Given the description of an element on the screen output the (x, y) to click on. 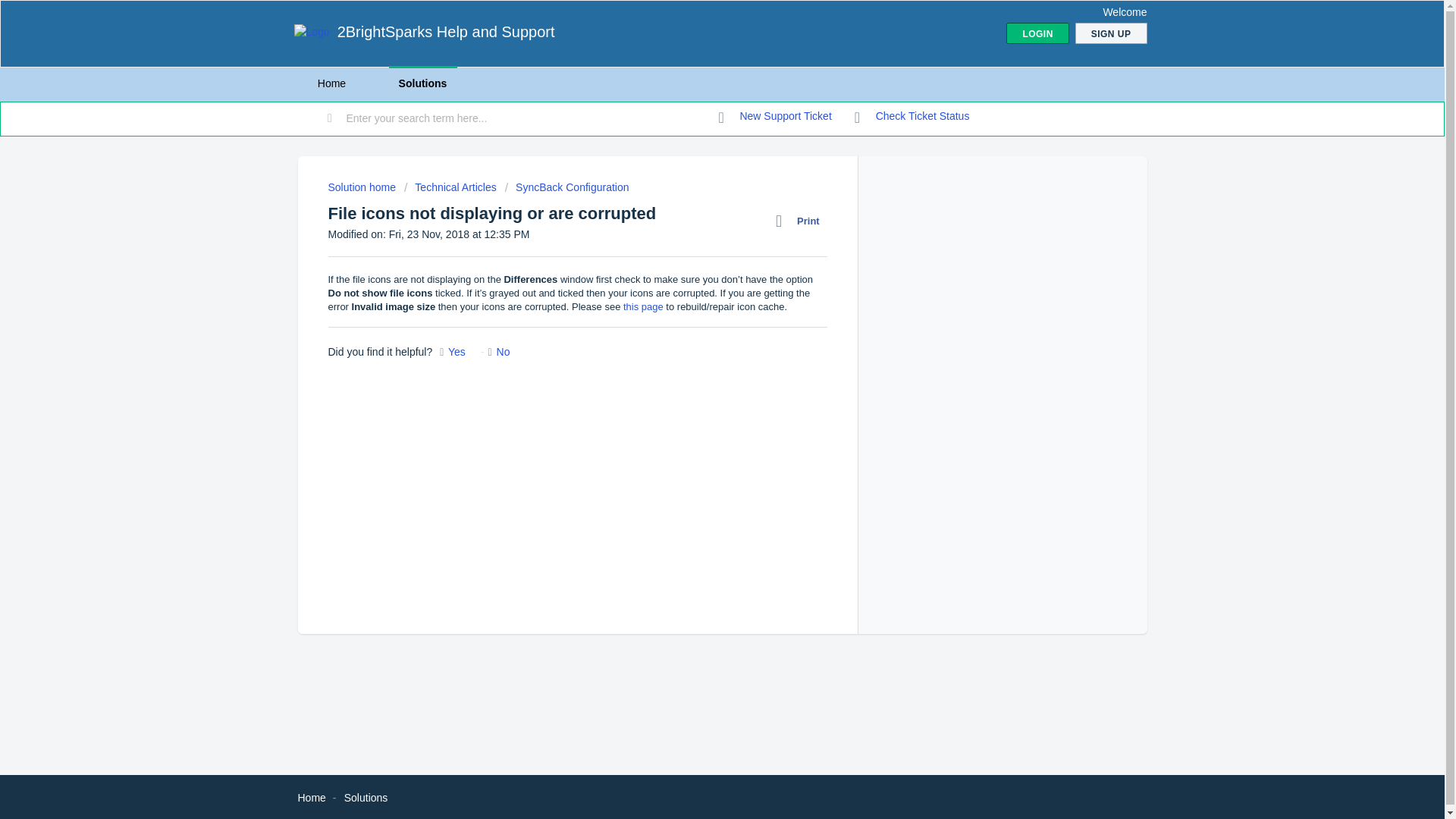
Solutions (365, 797)
SIGN UP (1111, 33)
this page (643, 306)
LOGIN (1037, 33)
Solutions (422, 83)
Print this Article (801, 220)
Home (310, 797)
Solution home (362, 186)
Print (801, 220)
Check ticket status (911, 116)
New Support Ticket (775, 116)
New support ticket (775, 116)
Check Ticket Status (911, 116)
Home (331, 83)
SyncBack Configuration (566, 186)
